Given the description of an element on the screen output the (x, y) to click on. 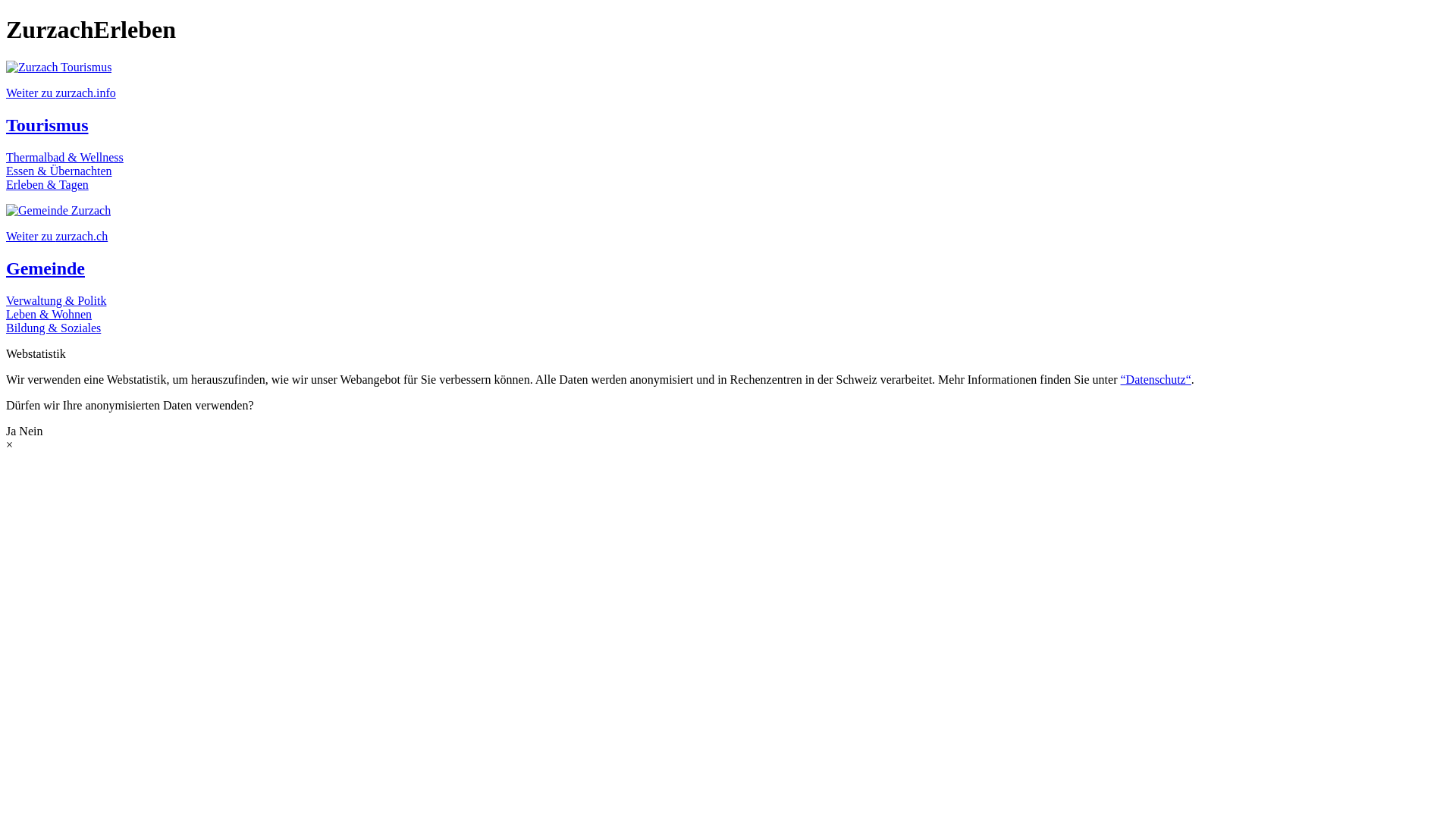
Nein Element type: text (30, 430)
Ja Element type: text (10, 430)
